Given the description of an element on the screen output the (x, y) to click on. 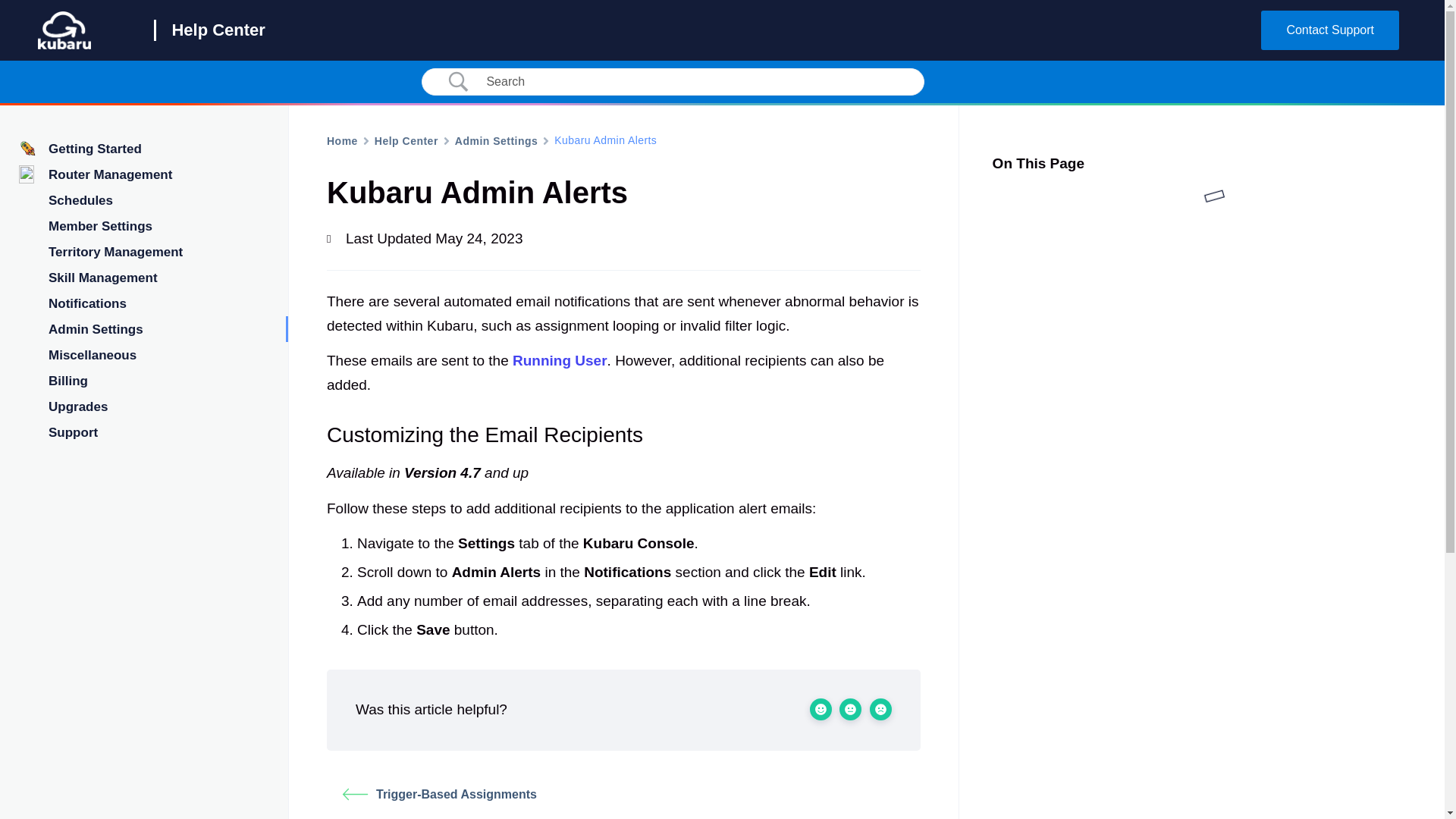
Admin Settings (496, 140)
Help Center (406, 140)
Home (342, 140)
Help Center (217, 29)
Contact Support (1329, 29)
